Given the description of an element on the screen output the (x, y) to click on. 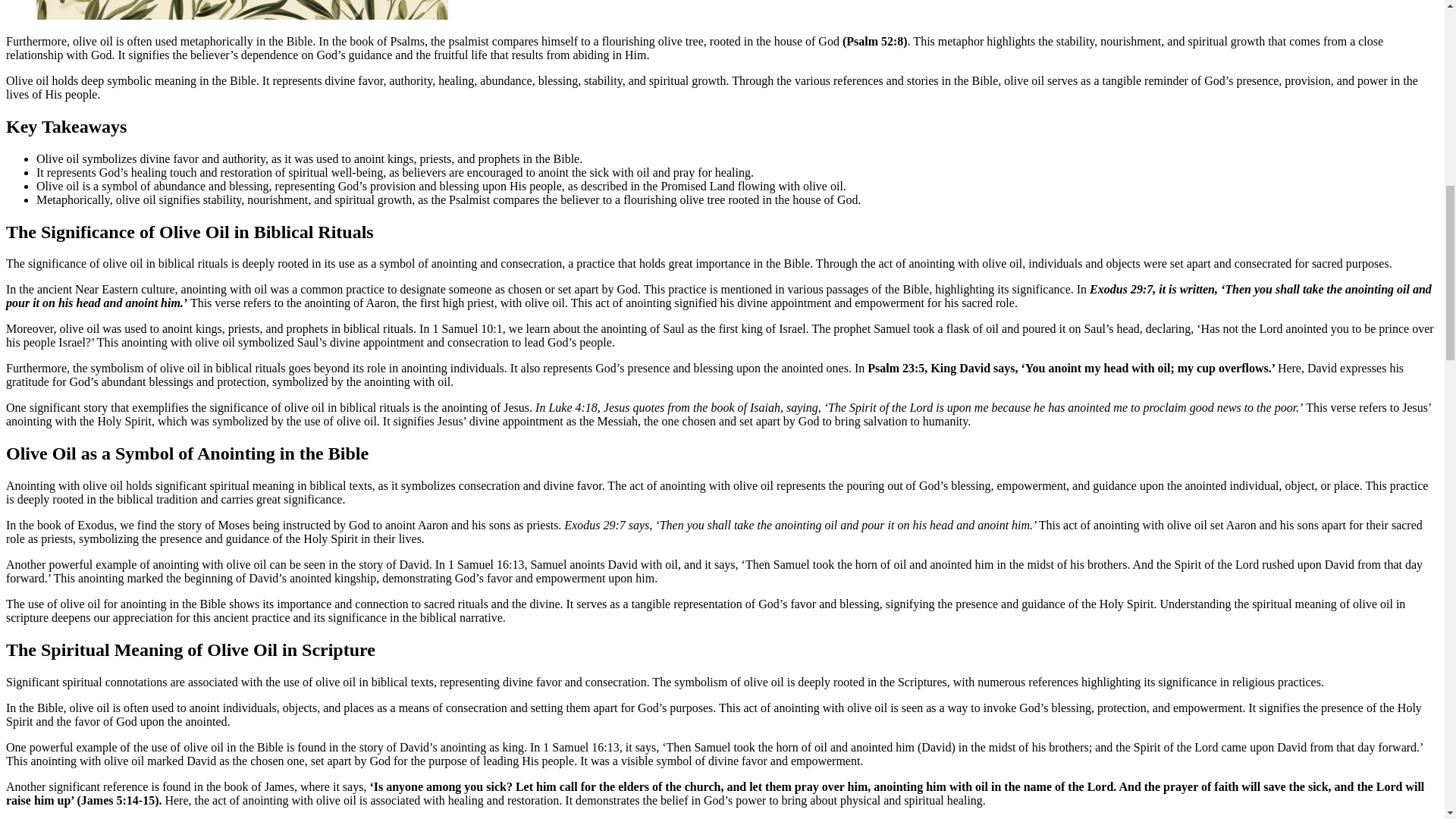
What Does Olive Oil Symbolize in the Bible (242, 9)
